Given the description of an element on the screen output the (x, y) to click on. 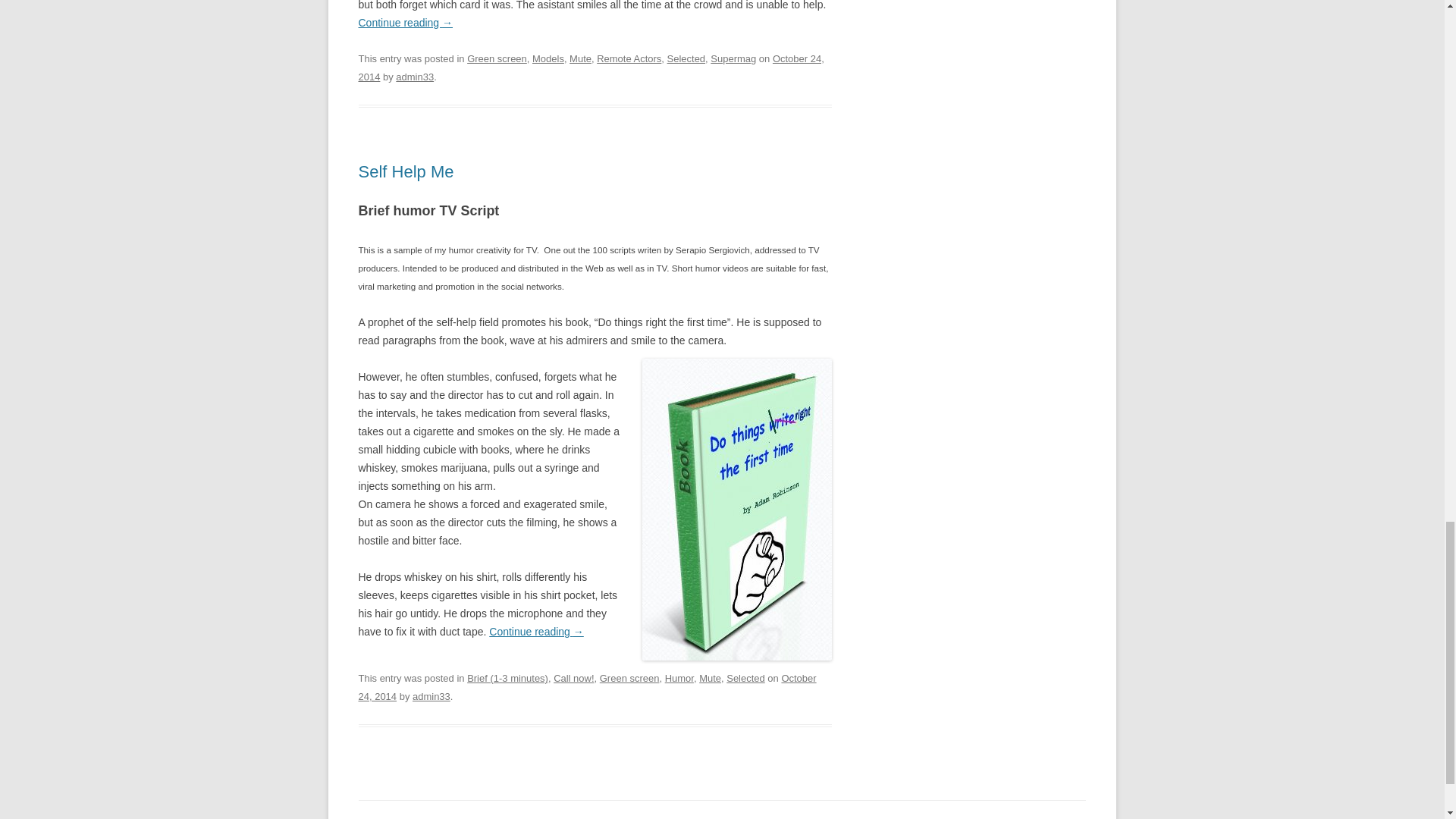
October 24, 2014 (591, 67)
Green screen (497, 58)
Supermag (732, 58)
7:41 pm (586, 686)
Mute (580, 58)
Remote Actors (628, 58)
admin33 (414, 76)
Models (548, 58)
View all posts by admin33 (414, 76)
Selected (686, 58)
